Given the description of an element on the screen output the (x, y) to click on. 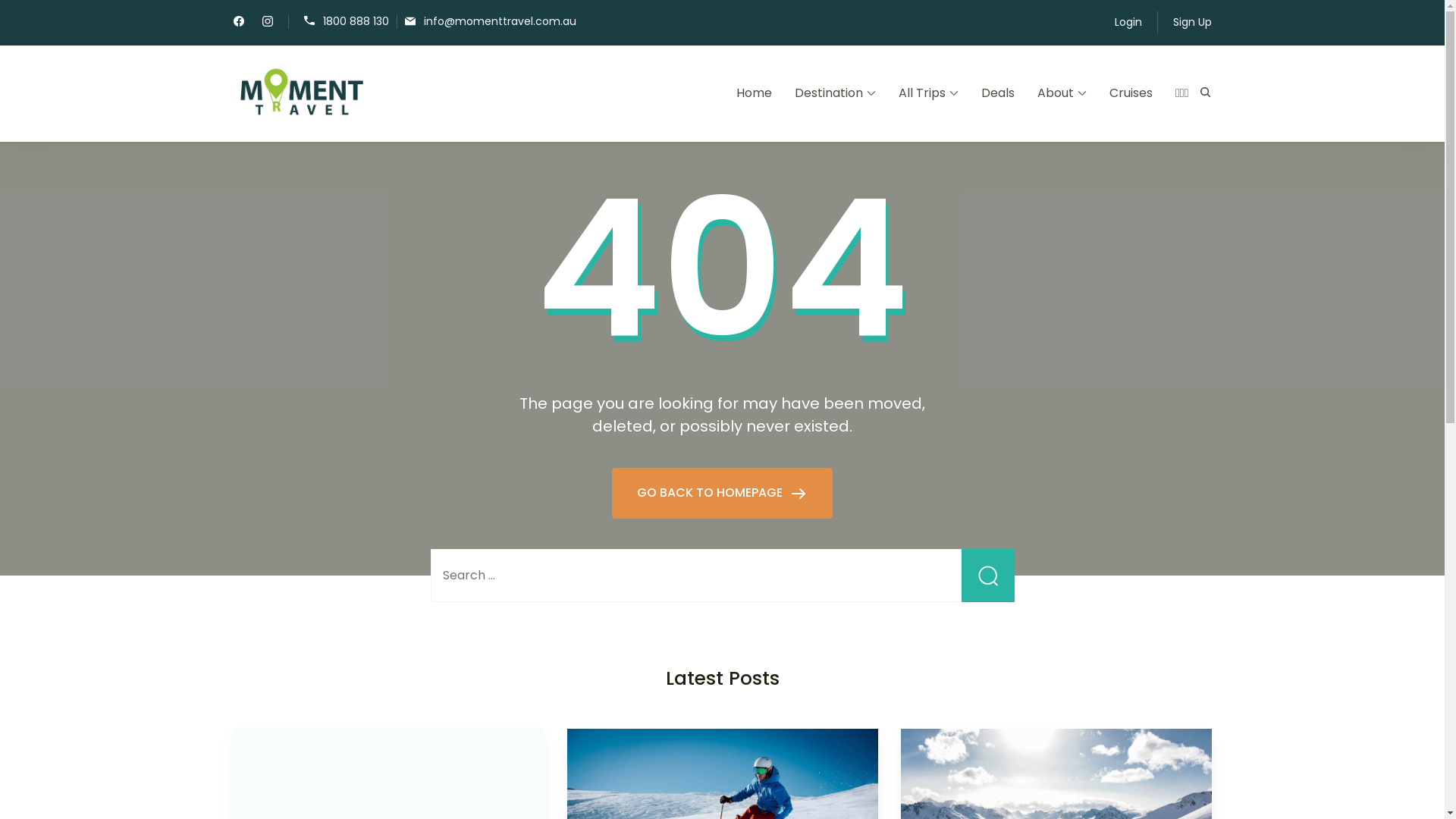
Search Element type: text (1035, 93)
Login Element type: text (1128, 22)
Destination Element type: text (834, 93)
Sign Up Element type: text (1191, 22)
GO BACK TO HOMEPAGE Element type: text (721, 492)
Home Element type: text (753, 93)
Cruises Element type: text (1130, 93)
Deals Element type: text (997, 93)
info@momenttravel.com.au Element type: text (490, 20)
All Trips Element type: text (928, 93)
About Element type: text (1061, 93)
Moment Travel v1 Element type: text (437, 103)
Search Element type: text (987, 575)
1800 888 130 Element type: text (345, 20)
